Given the description of an element on the screen output the (x, y) to click on. 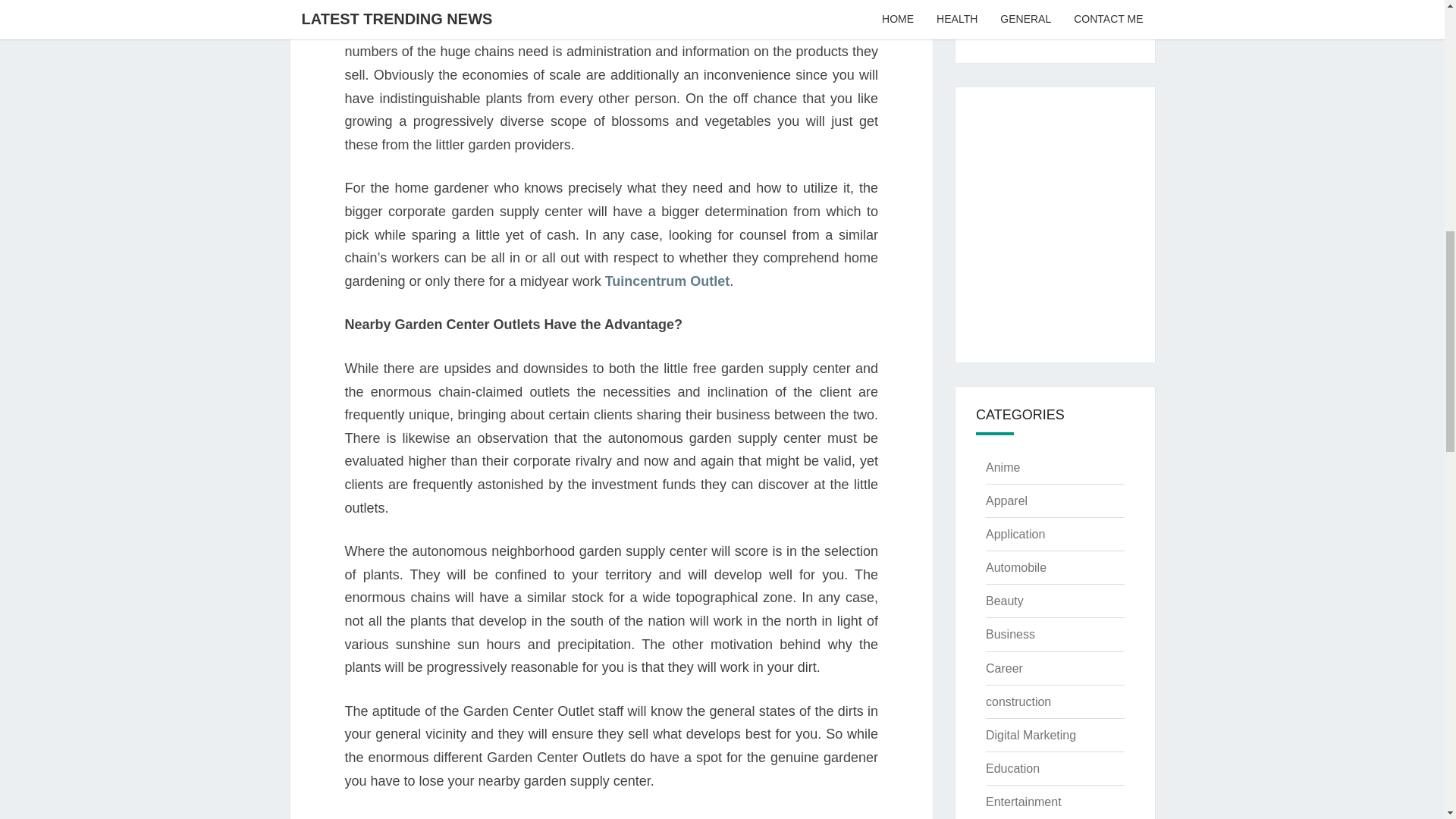
Education (1012, 768)
Automobile (1015, 567)
Career (1004, 667)
Business (1010, 634)
Application (1015, 533)
Tuincentrum Outlet (667, 281)
Anime (1002, 467)
Beauty (1004, 600)
construction (1018, 701)
Digital Marketing (1030, 735)
Entertainment (1023, 801)
Apparel (1006, 500)
